Given the description of an element on the screen output the (x, y) to click on. 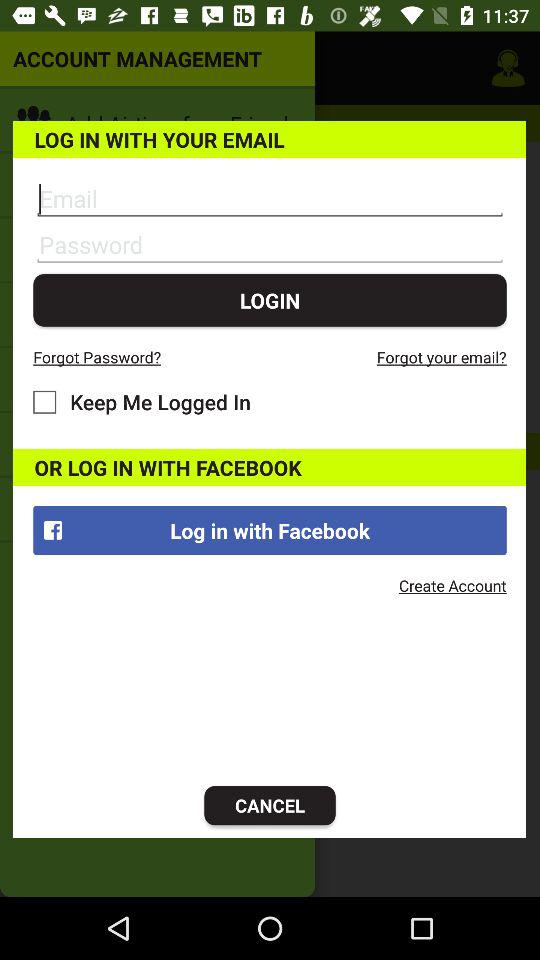
swipe until the keep me logged item (141, 401)
